Given the description of an element on the screen output the (x, y) to click on. 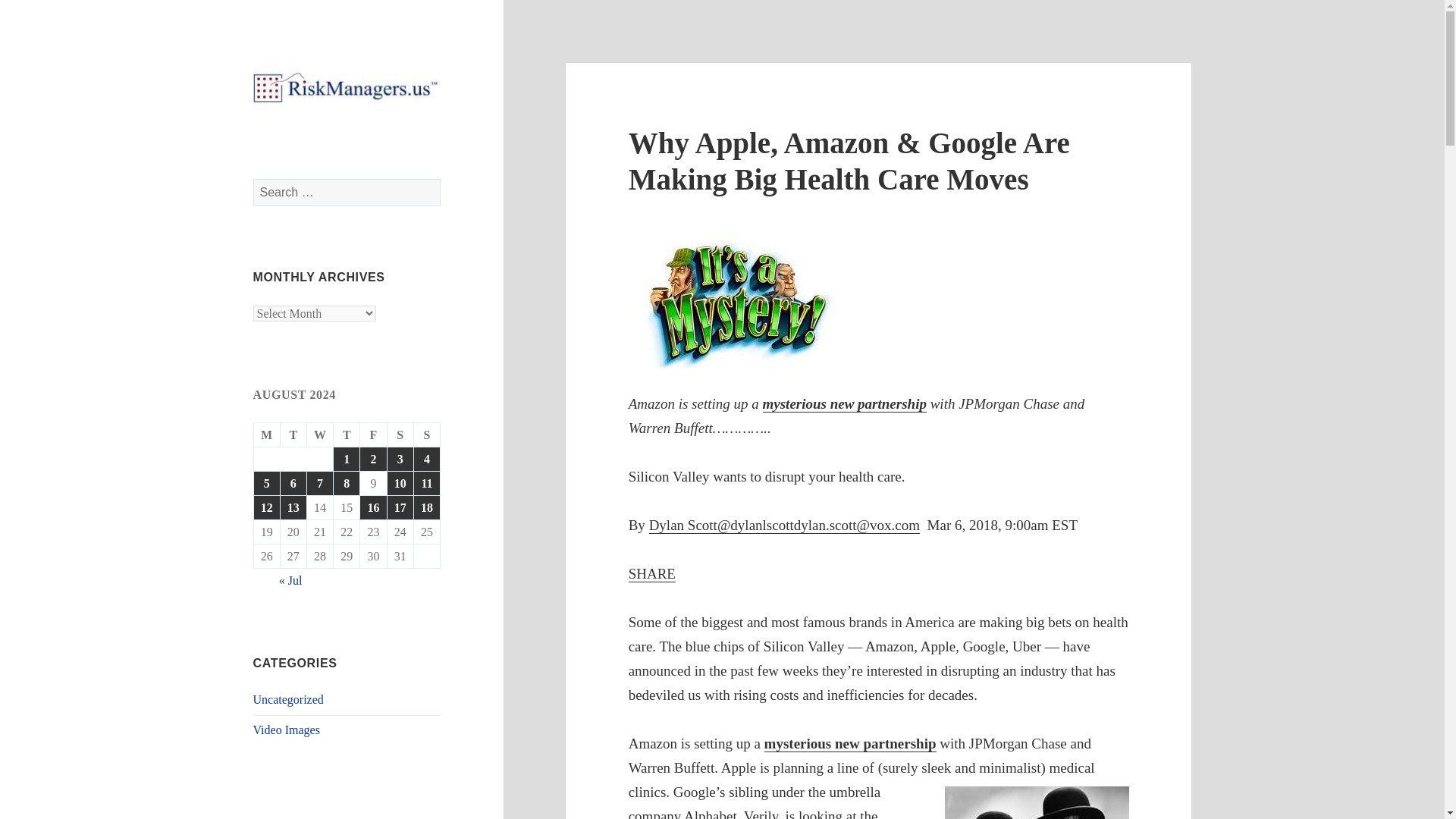
SHARE (651, 573)
18 (426, 507)
Tuesday (294, 435)
Video Images (286, 729)
5 (266, 483)
4 (426, 458)
Uncategorized (288, 698)
8 (346, 483)
